Given the description of an element on the screen output the (x, y) to click on. 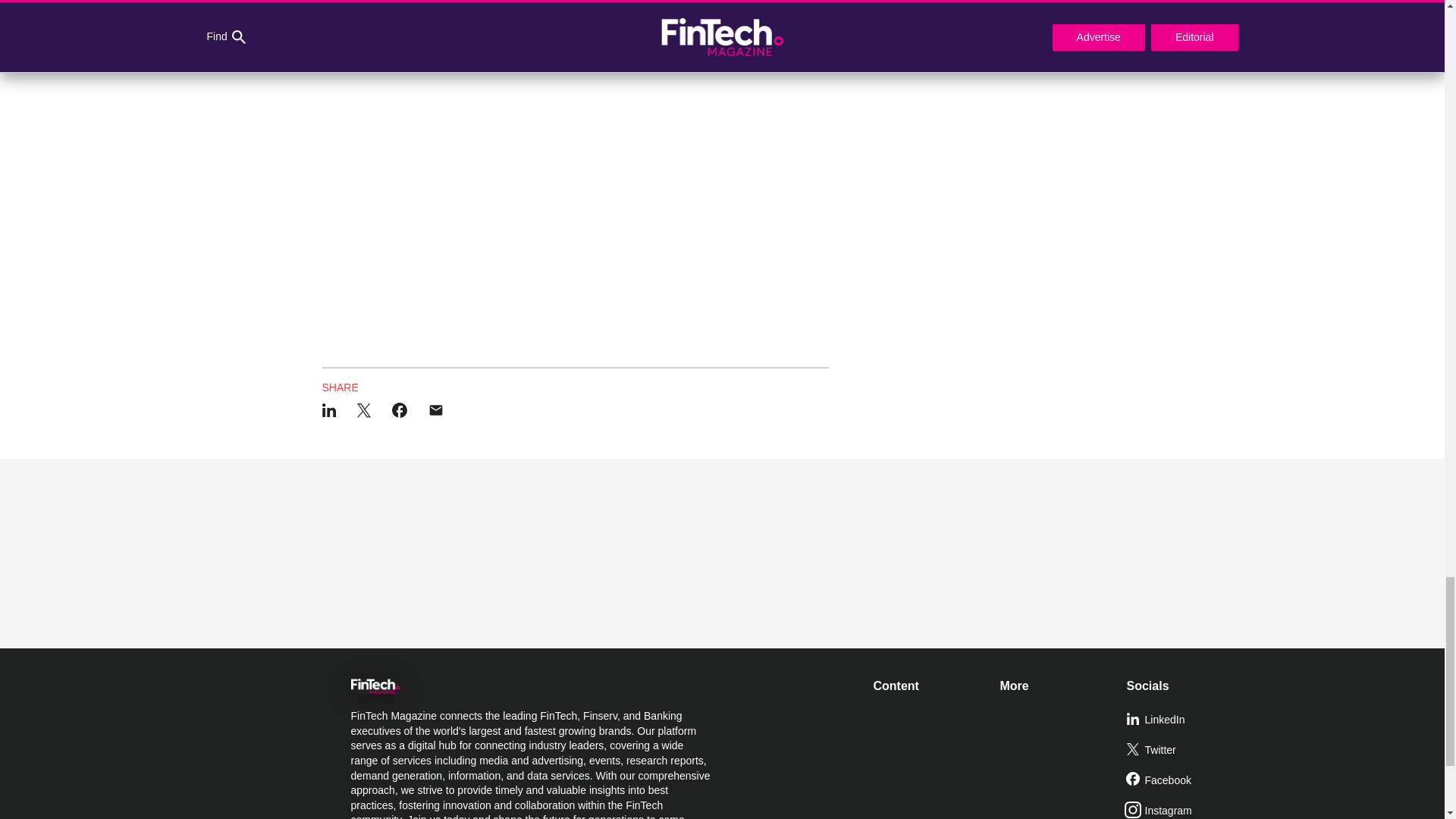
Twitter (1182, 750)
Facebook (1182, 780)
LinkedIn (1182, 720)
Instagram (1182, 807)
